Given the description of an element on the screen output the (x, y) to click on. 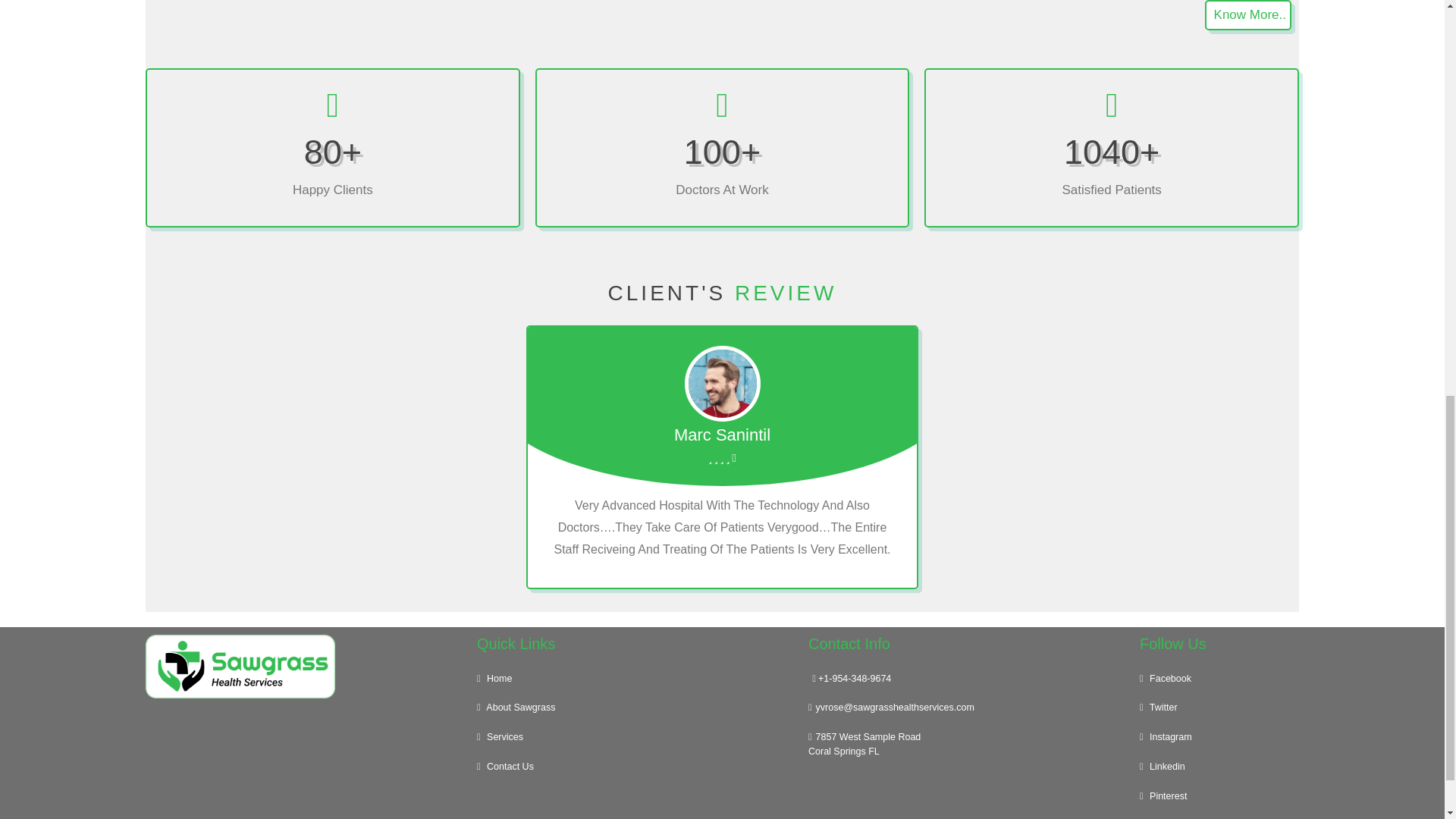
About Sawgrass (635, 707)
Services (635, 737)
Know More.. (966, 744)
Home (1248, 15)
Contact Us (635, 678)
